Given the description of an element on the screen output the (x, y) to click on. 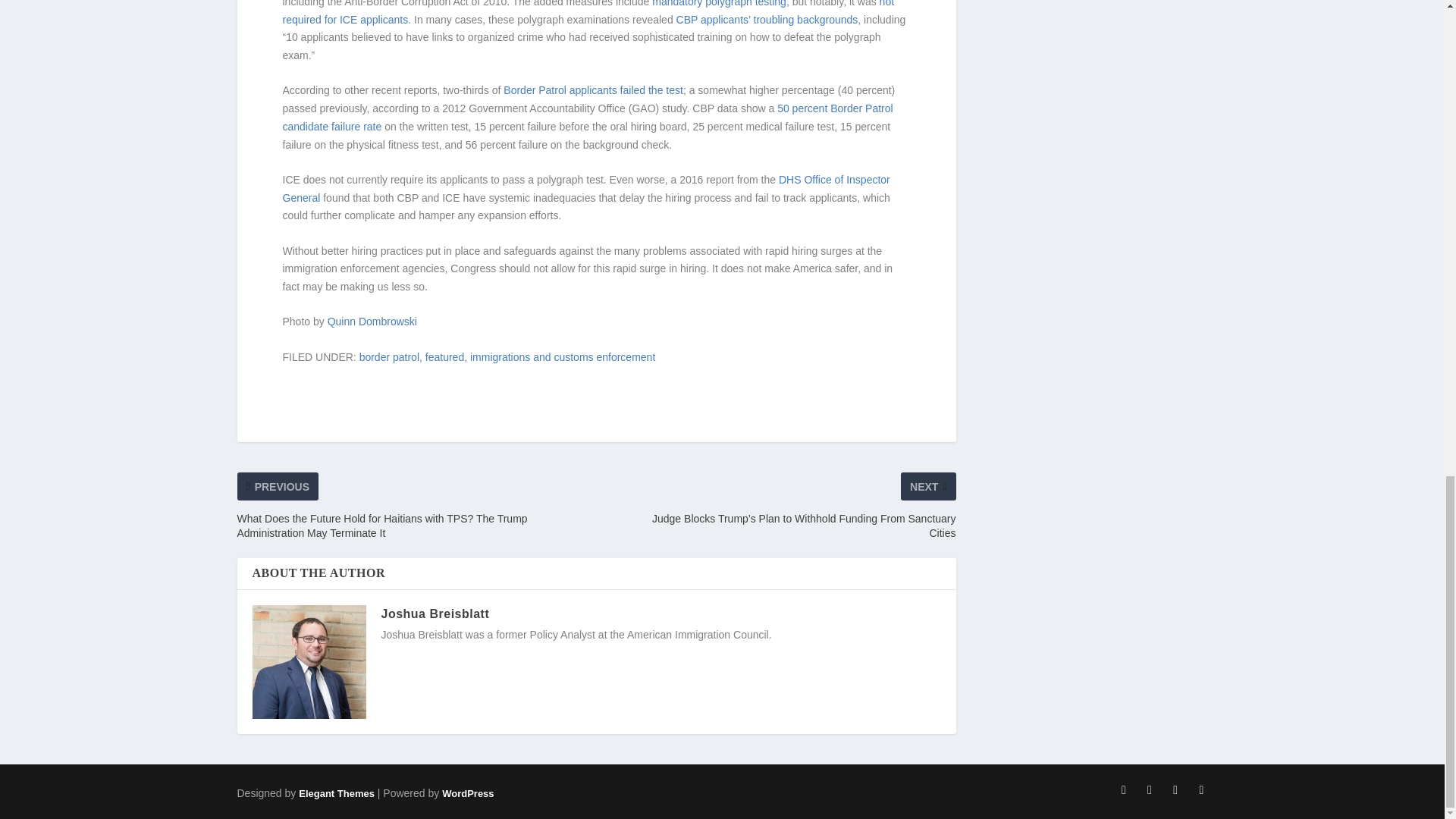
Quinn Dombrowski (371, 321)
View all posts by Joshua Breisblatt (434, 613)
DHS Office of Inspector General (585, 188)
not required for ICE applicants (587, 12)
mandatory polygraph testing (719, 3)
50 percent Border Patrol candidate failure rate (587, 117)
featured (444, 357)
Border Patrol applicants failed the test (592, 90)
immigrations and customs enforcement (562, 357)
border patrol (389, 357)
